Given the description of an element on the screen output the (x, y) to click on. 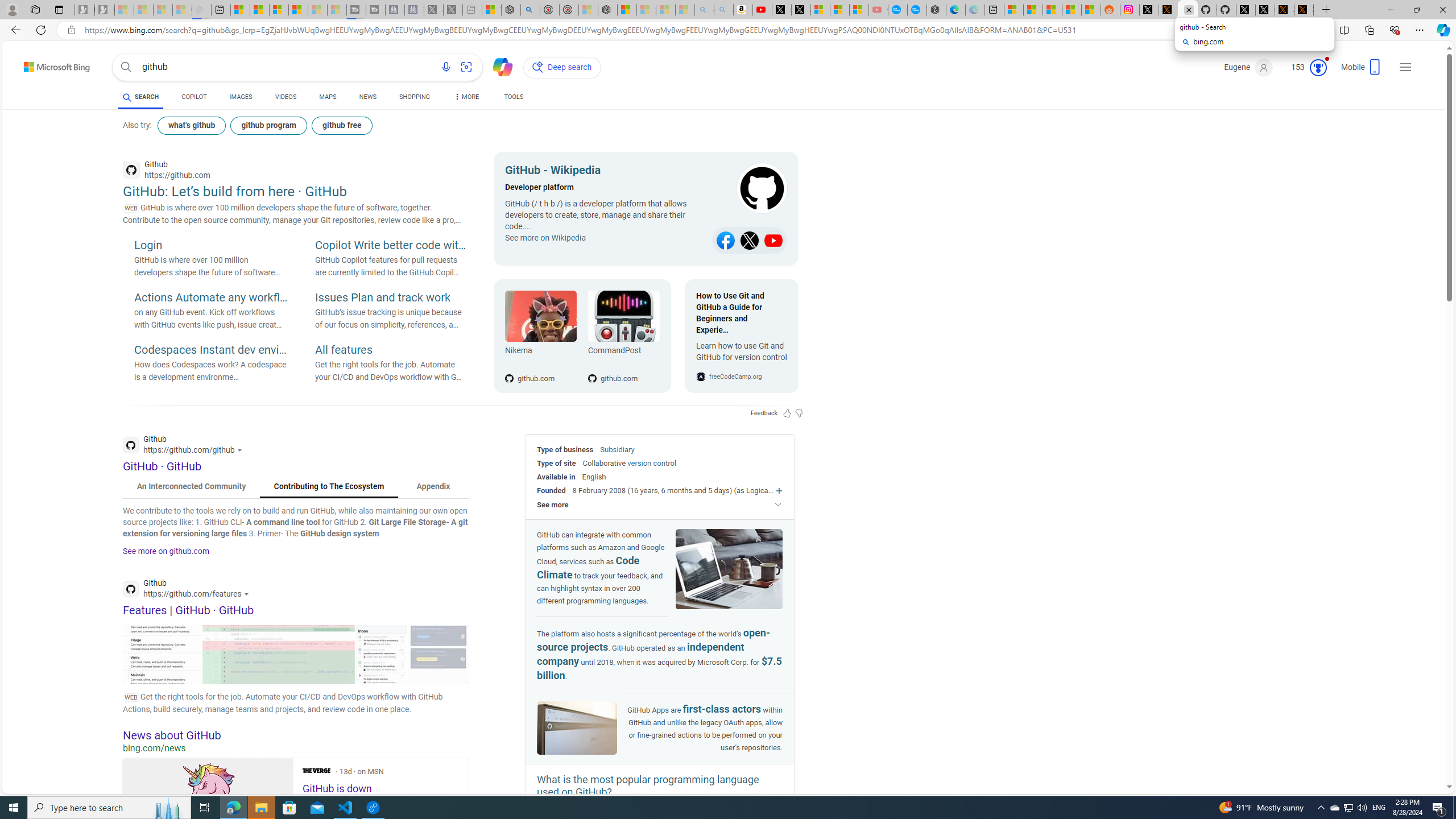
NEWS (367, 98)
X Privacy Policy (1303, 9)
Opinion: Op-Ed and Commentary - USA TODAY (897, 9)
Actions for this site (247, 594)
The Verge on MSN.com (316, 770)
All features (391, 350)
X (800, 9)
github program (268, 125)
Address and search bar (680, 29)
IMAGES (240, 98)
Global Web Icon (700, 376)
Shanghai, China Weather trends | Microsoft Weather (1090, 9)
